Given the description of an element on the screen output the (x, y) to click on. 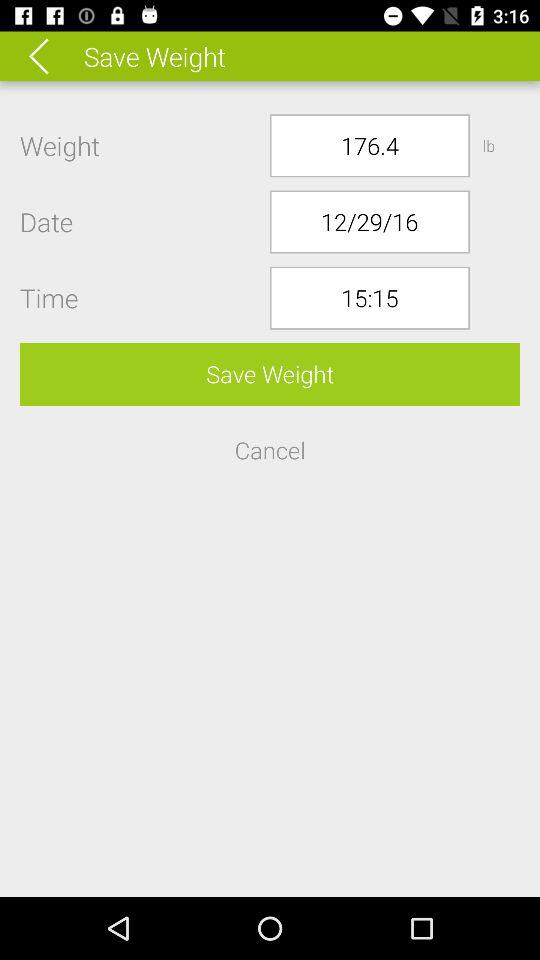
open button below 176.4 item (369, 221)
